Given the description of an element on the screen output the (x, y) to click on. 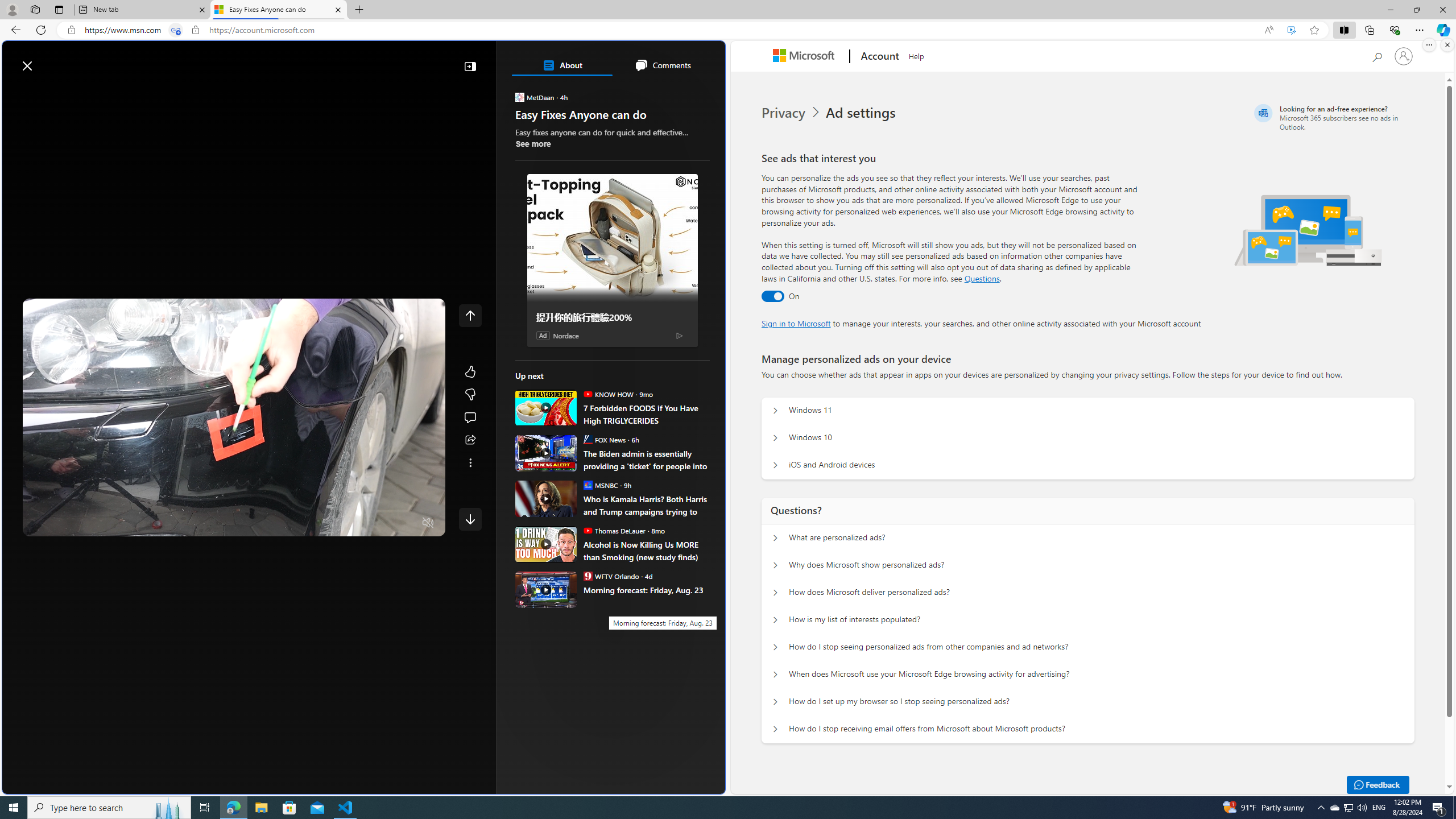
Microsoft (805, 56)
FOX News FOX News (604, 438)
Tabs in split screen (175, 29)
KNOW HOW (587, 393)
Unmute (427, 523)
Help (915, 54)
Illustration of multiple devices (1308, 229)
Help (915, 54)
